Given the description of an element on the screen output the (x, y) to click on. 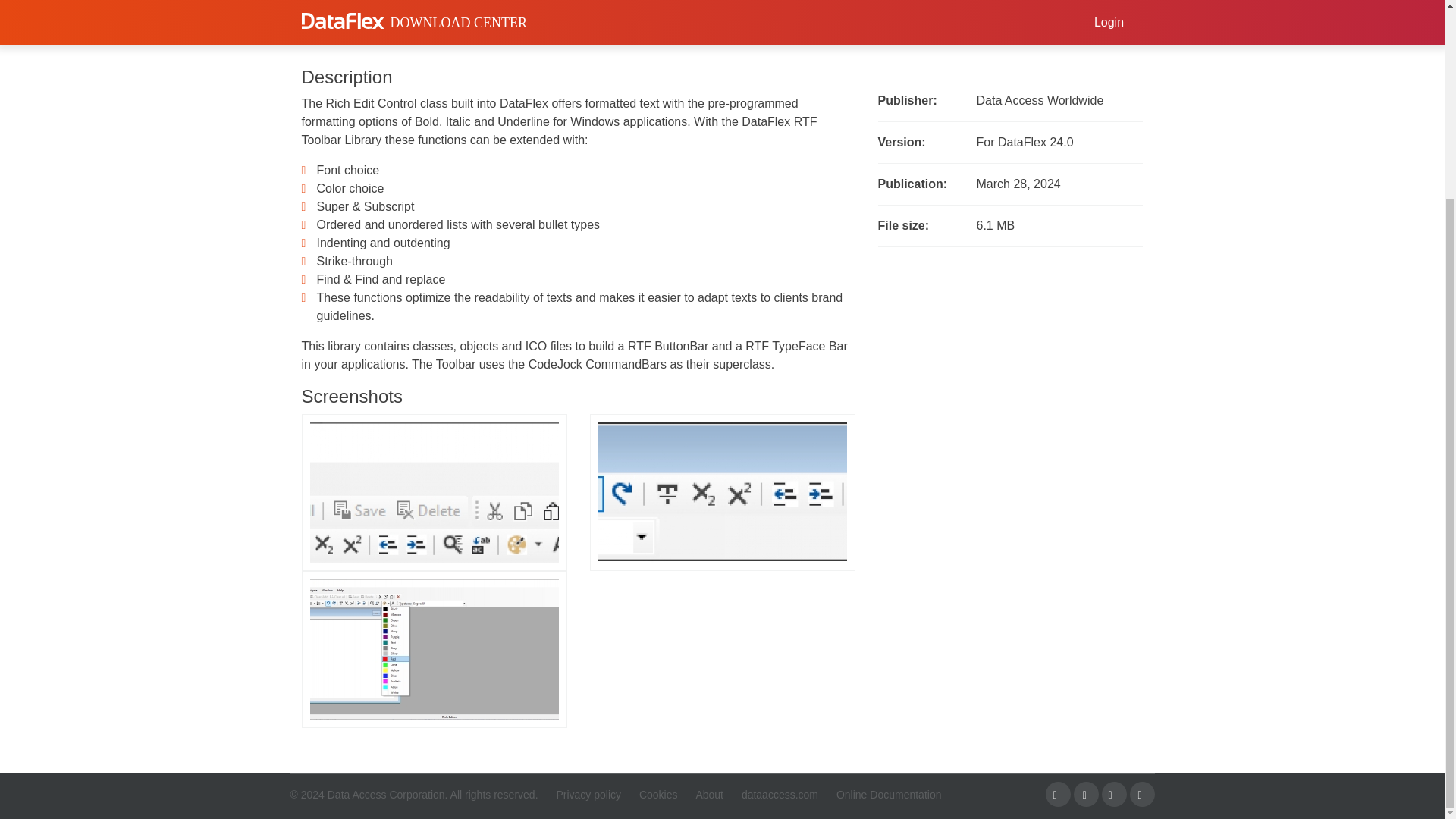
Cookies (651, 794)
Description (347, 9)
dataaccess.com (772, 794)
Privacy policy (580, 794)
Online Documentation (881, 794)
Support (455, 9)
About (701, 794)
Prior versions (571, 9)
